Given the description of an element on the screen output the (x, y) to click on. 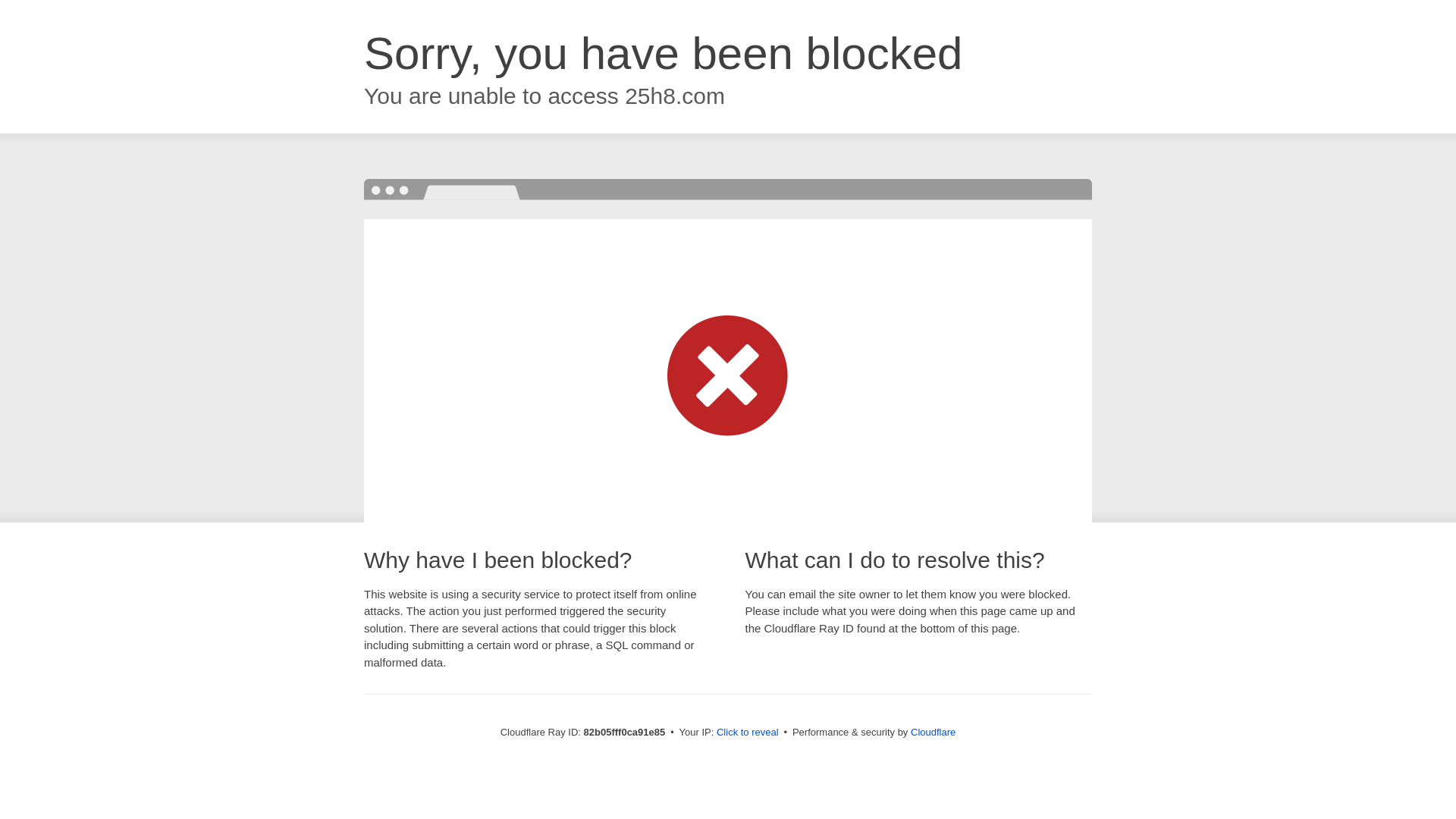
Cloudflare Element type: text (932, 731)
Click to reveal Element type: text (747, 732)
